Given the description of an element on the screen output the (x, y) to click on. 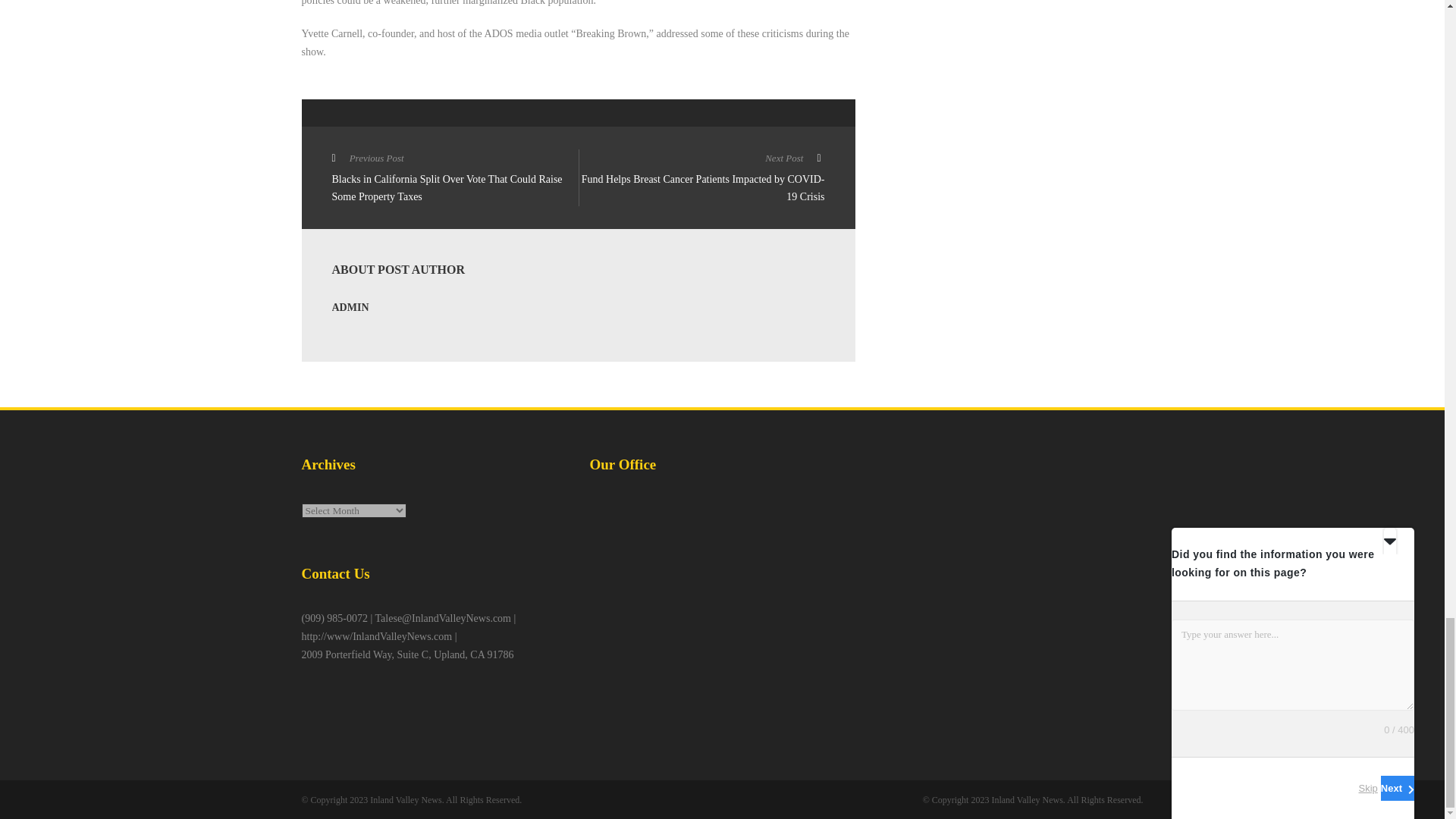
Posts by admin (350, 307)
ADMIN (350, 307)
